Given the description of an element on the screen output the (x, y) to click on. 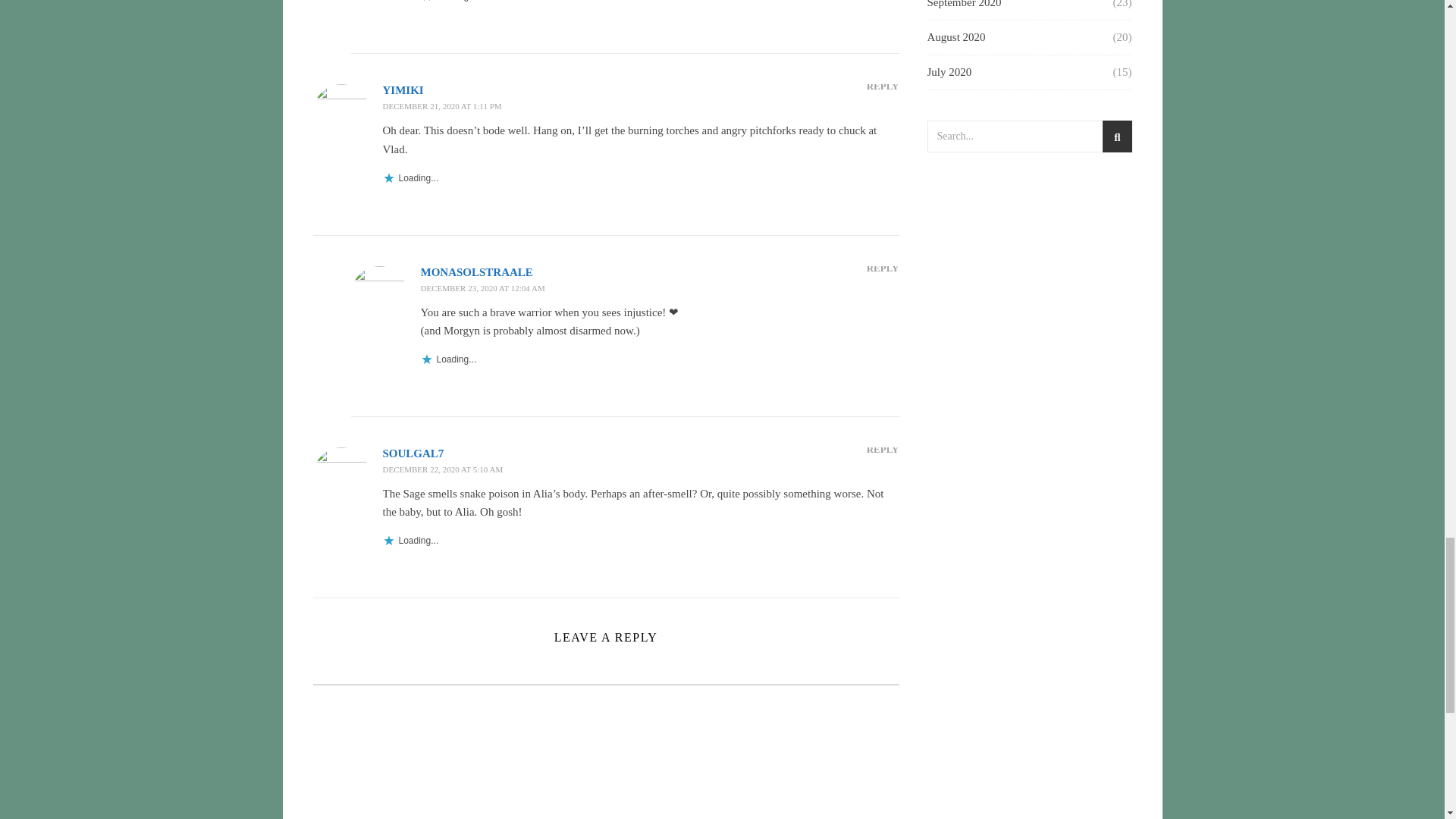
Comment Form (605, 751)
